Given the description of an element on the screen output the (x, y) to click on. 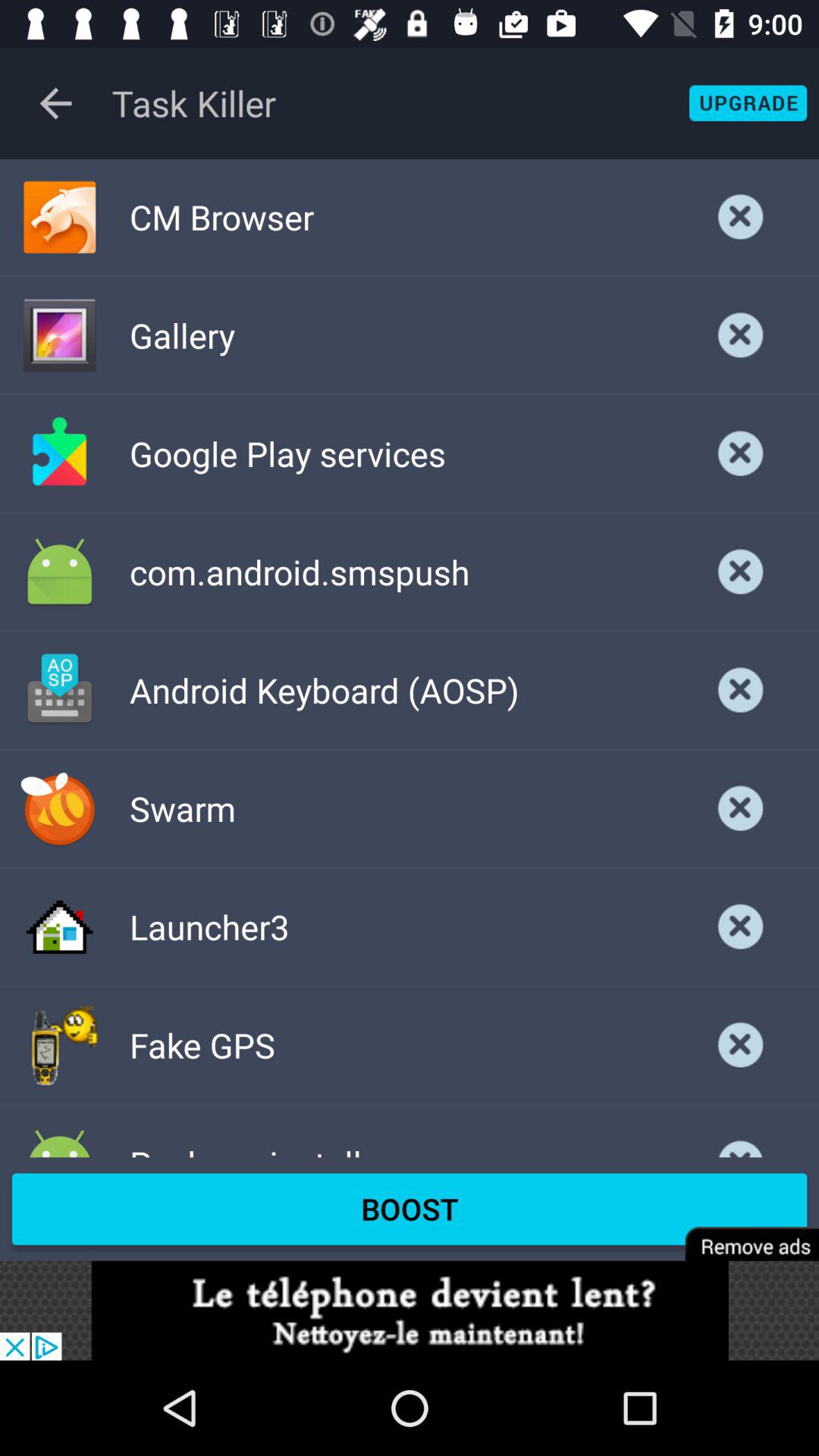
close a task (740, 1136)
